Given the description of an element on the screen output the (x, y) to click on. 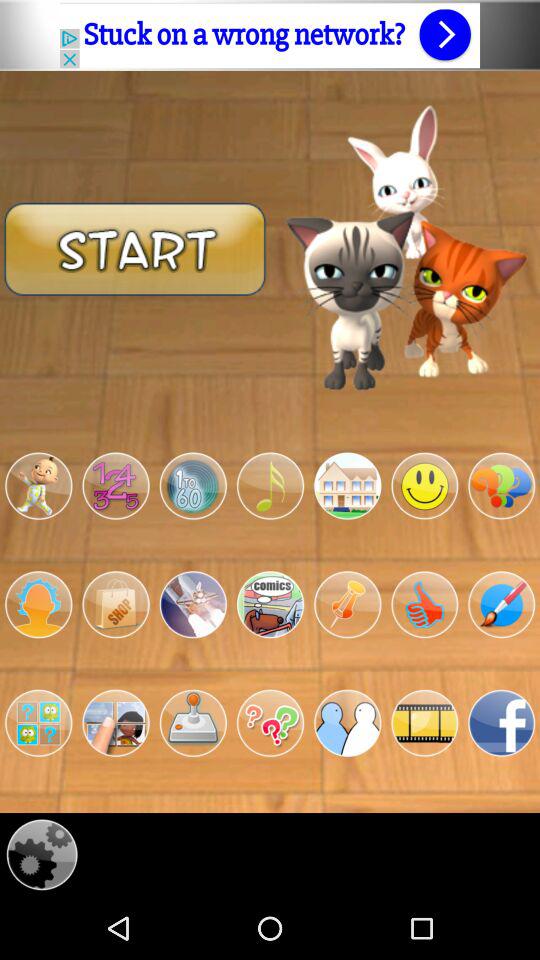
go to snow app (192, 604)
